Given the description of an element on the screen output the (x, y) to click on. 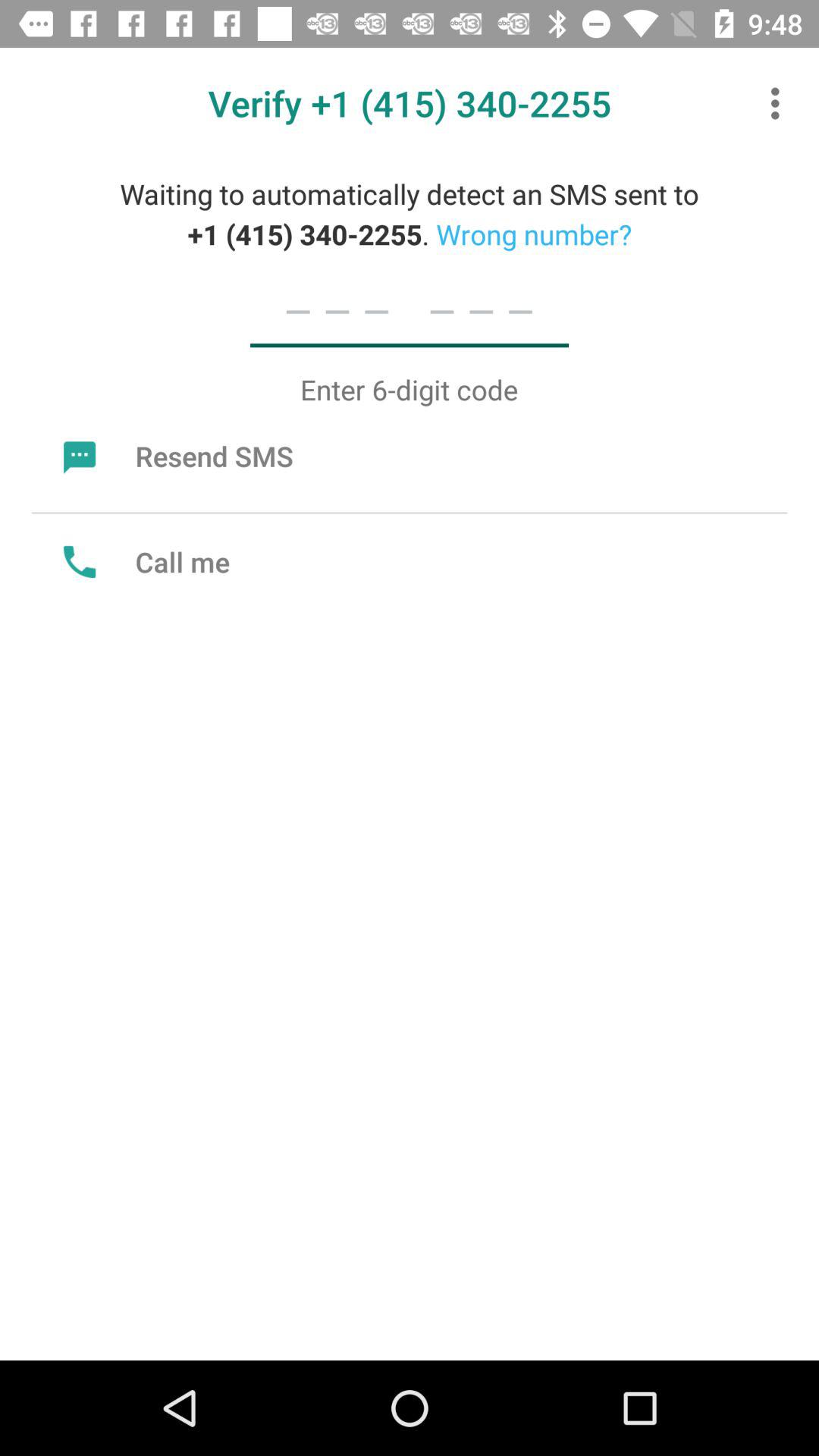
click the icon at the top right corner (779, 103)
